Given the description of an element on the screen output the (x, y) to click on. 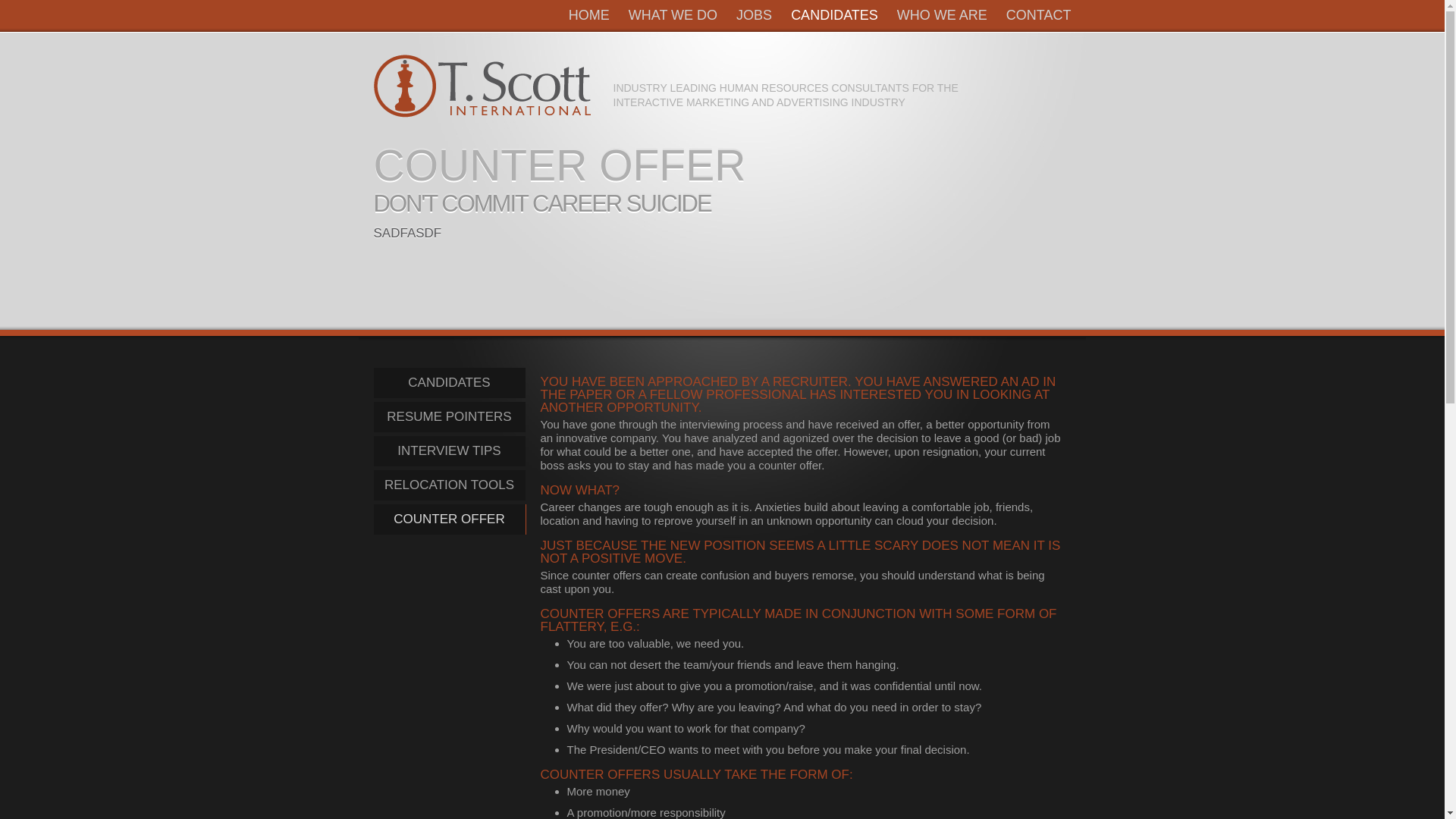
RELOCATION TOOLS (448, 485)
HOME (589, 15)
CONTACT (1038, 15)
INTERVIEW TIPS (448, 450)
JOBS (753, 15)
COUNTER OFFER (448, 519)
RESUME POINTERS (448, 417)
T. Scott International (480, 85)
CANDIDATES (448, 382)
CANDIDATES (833, 15)
